Given the description of an element on the screen output the (x, y) to click on. 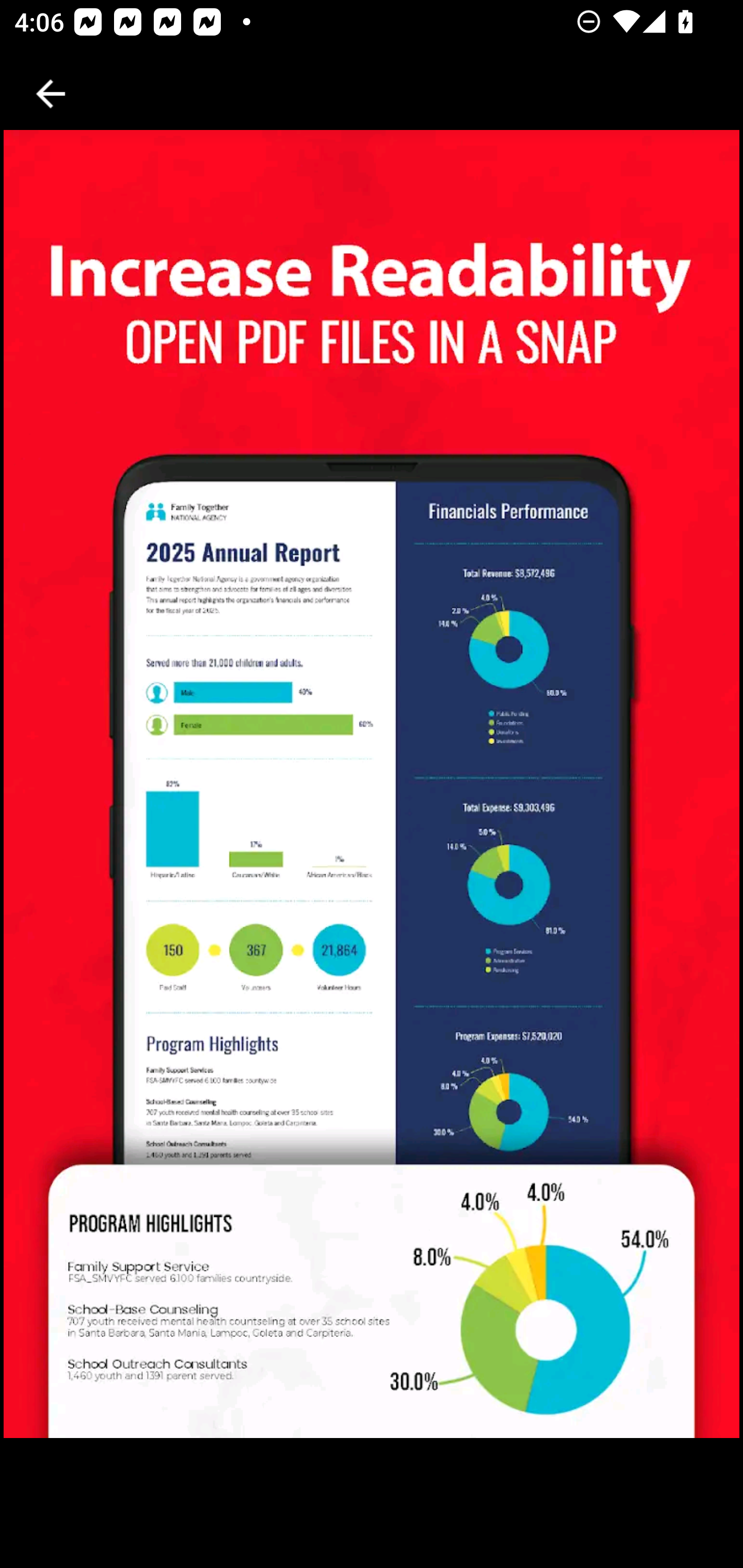
Back (50, 93)
